Given the description of an element on the screen output the (x, y) to click on. 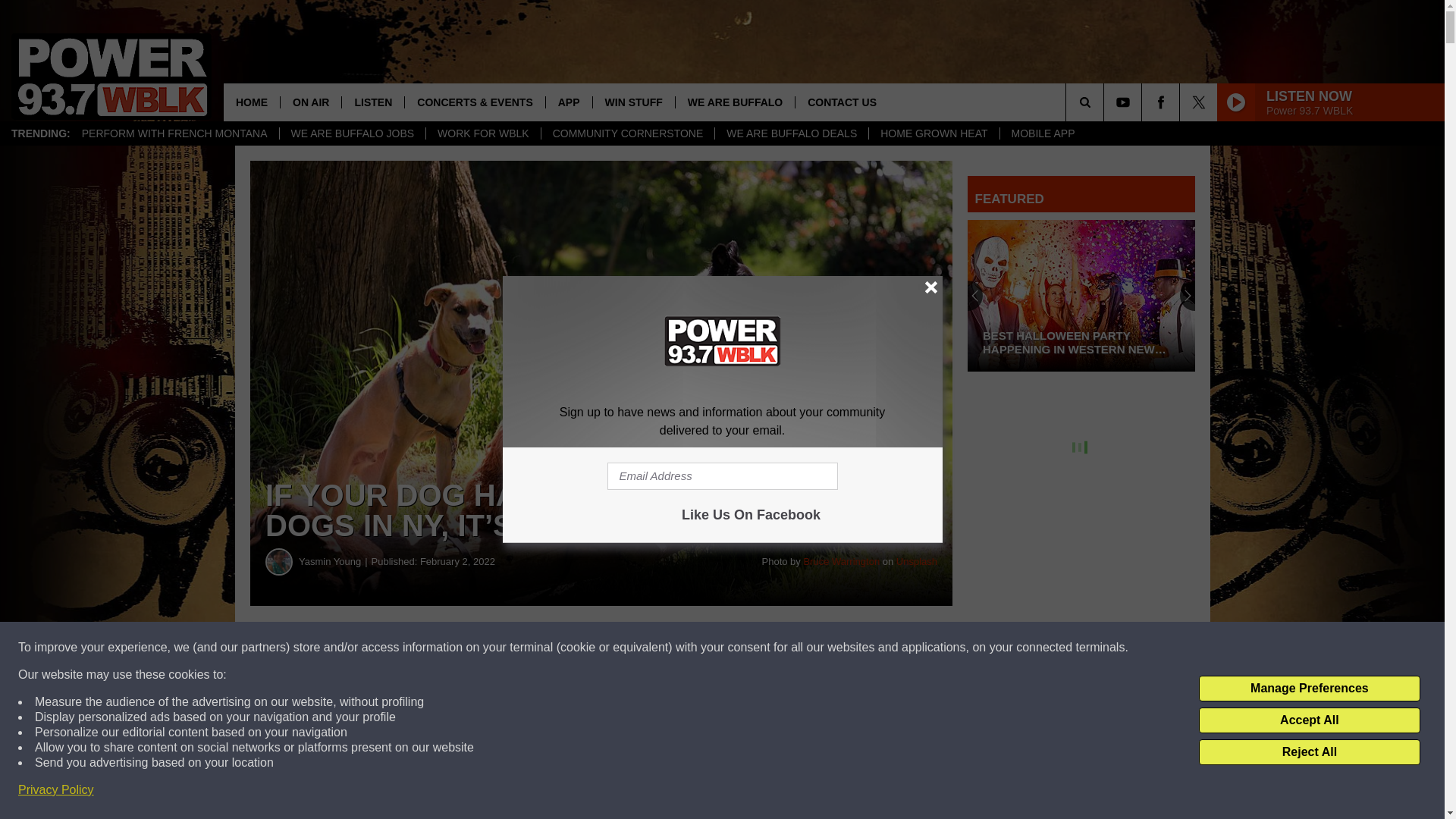
SEARCH (1106, 102)
ON AIR (309, 102)
WORK FOR WBLK (482, 133)
Email Address (722, 475)
MOBILE APP (1042, 133)
Share on Twitter (741, 647)
HOME (251, 102)
SEARCH (1106, 102)
APP (568, 102)
Reject All (1309, 751)
LISTEN (372, 102)
Share on Facebook (460, 647)
COMMUNITY CORNERSTONE (627, 133)
WE ARE BUFFALO JOBS (352, 133)
WIN STUFF (633, 102)
